Given the description of an element on the screen output the (x, y) to click on. 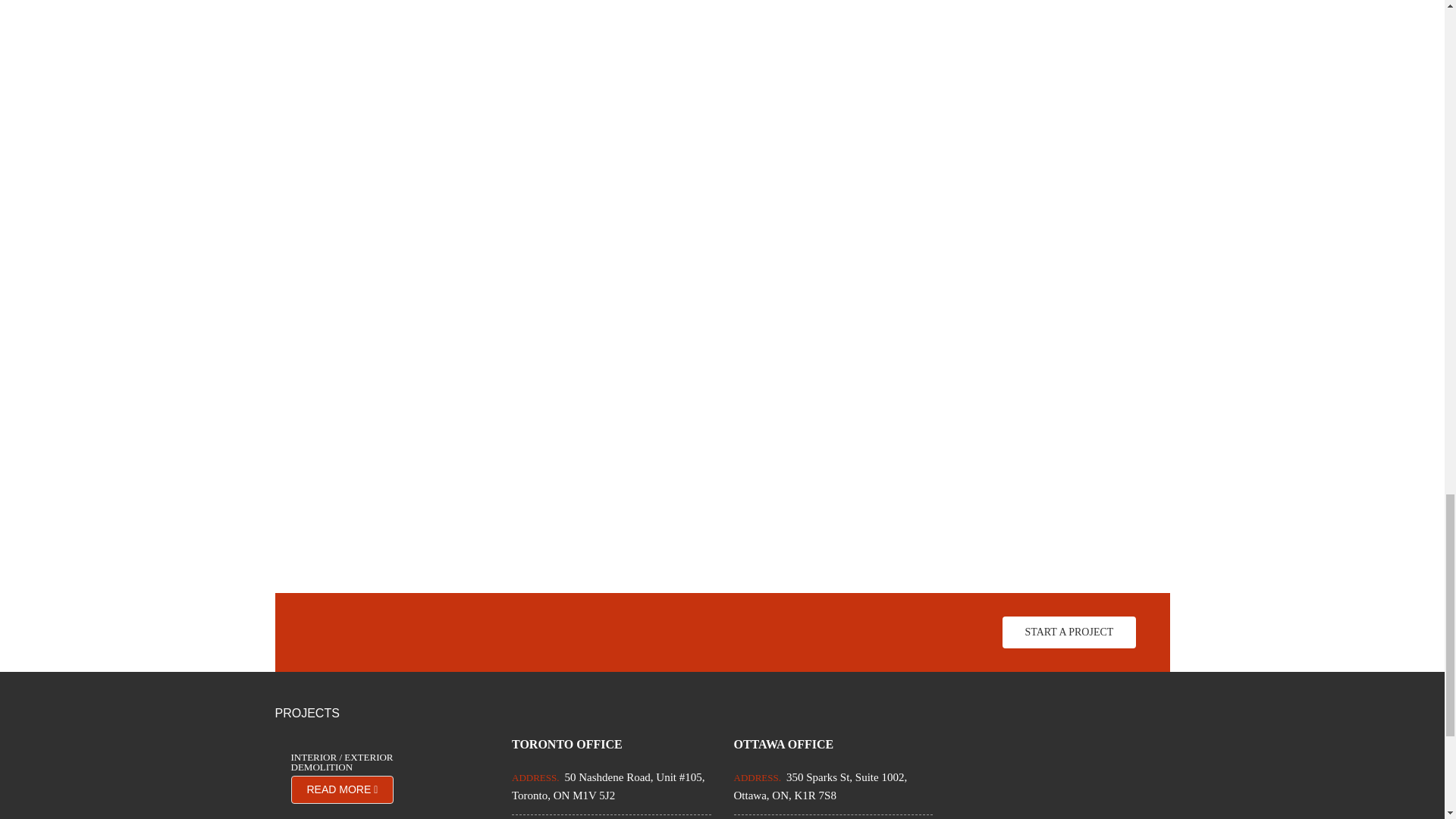
READ MORE (342, 789)
START A PROJECT (1070, 632)
Contact Us (1070, 632)
